Given the description of an element on the screen output the (x, y) to click on. 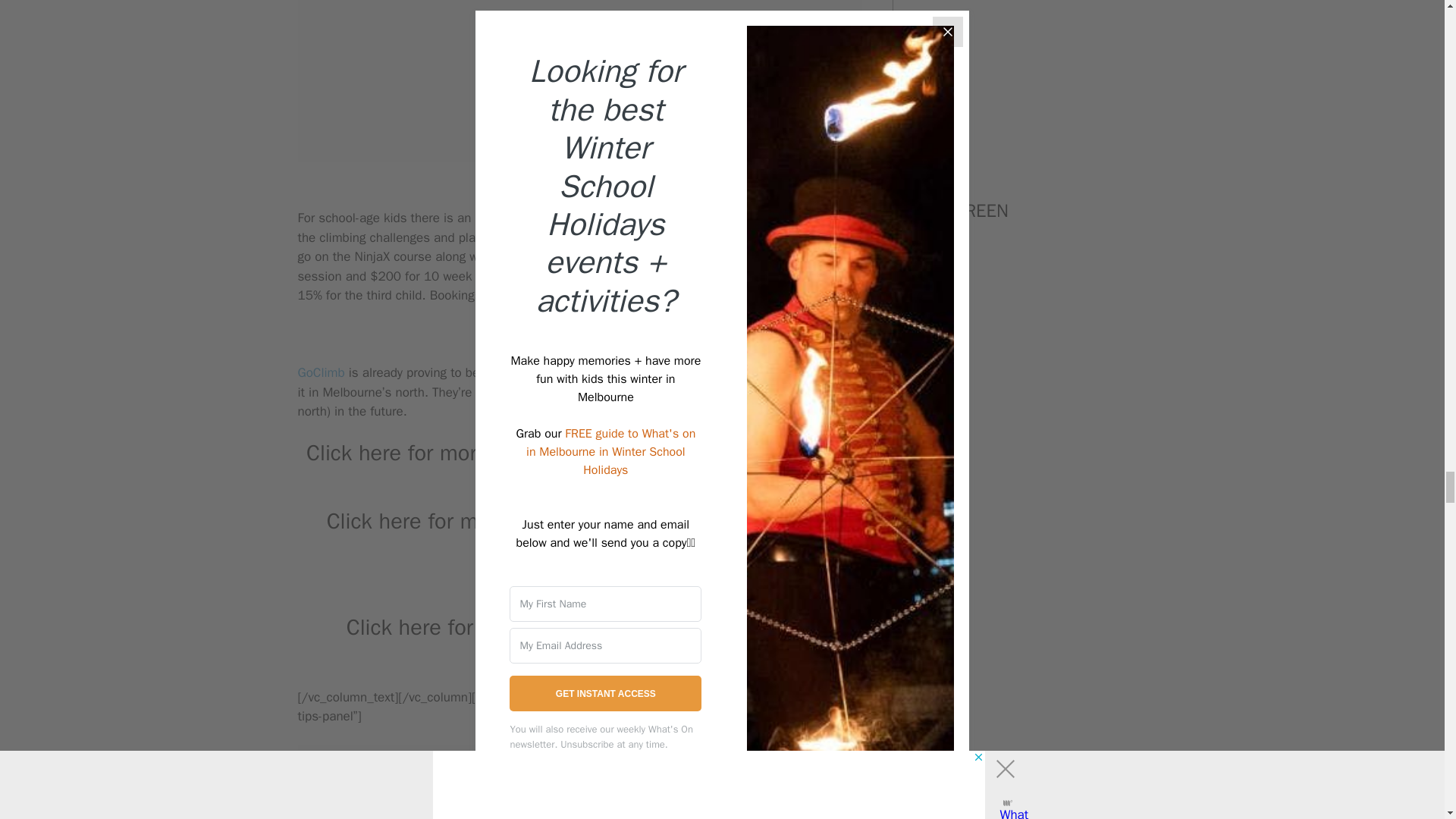
best indoor climbing centres in Melbourne (664, 640)
places to take babies and toddlers in Melbourne (674, 465)
best indoor play centres in Melbourne (680, 533)
GoClimb (320, 372)
after school drop-off program. (558, 217)
